Given the description of an element on the screen output the (x, y) to click on. 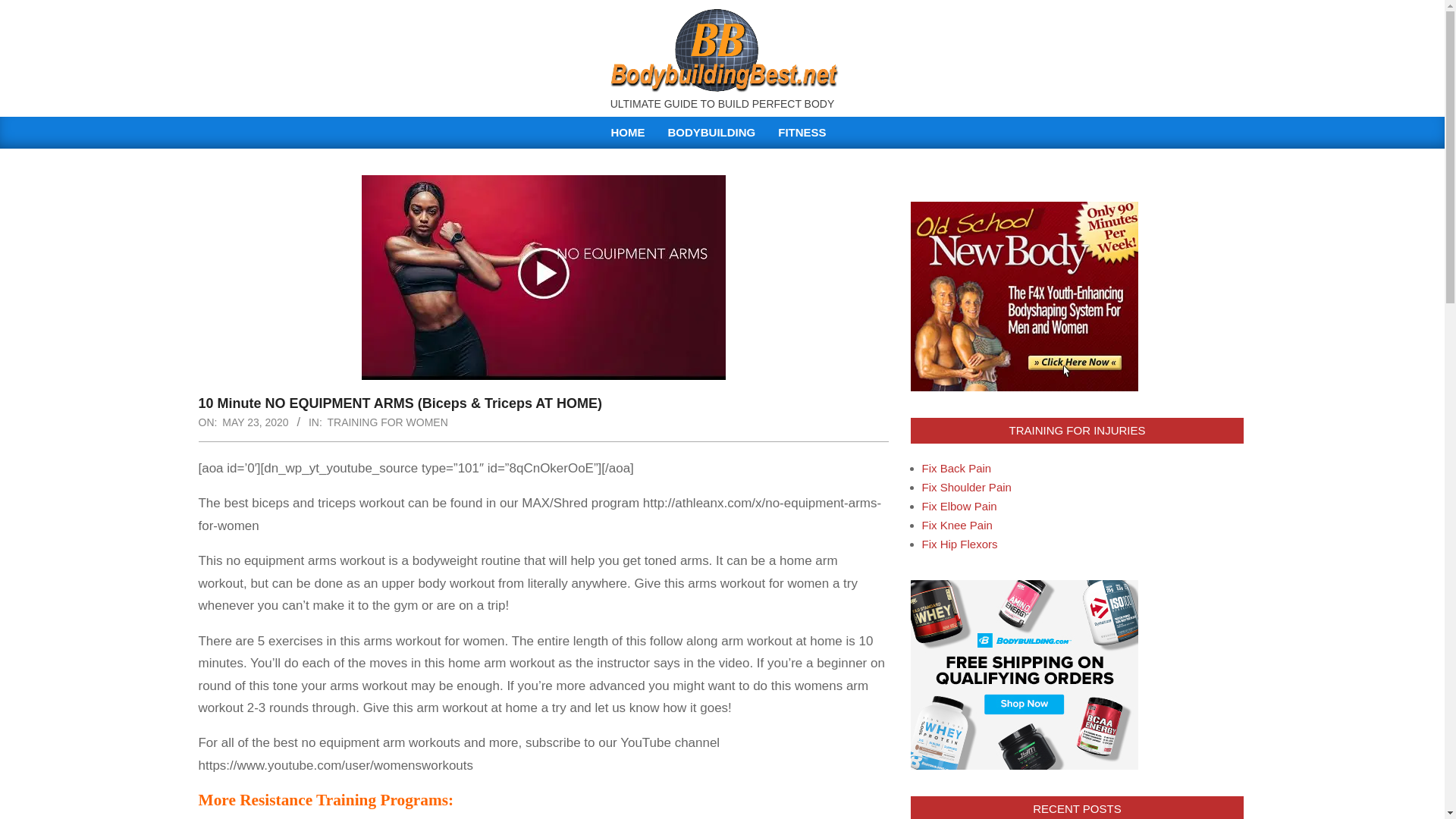
Saturday, May 23, 2020, 10:48 pm (255, 422)
HOME (627, 132)
BODYBUILDING (711, 132)
Visual Impact for Women (259, 817)
FITNESS (805, 132)
Fix Knee Pain (956, 524)
Fix Hip Flexors (959, 543)
Fix Back Pain (956, 468)
Fix Shoulder Pain (966, 486)
TRAINING FOR WOMEN (387, 422)
Fix Elbow Pain (959, 505)
